Given the description of an element on the screen output the (x, y) to click on. 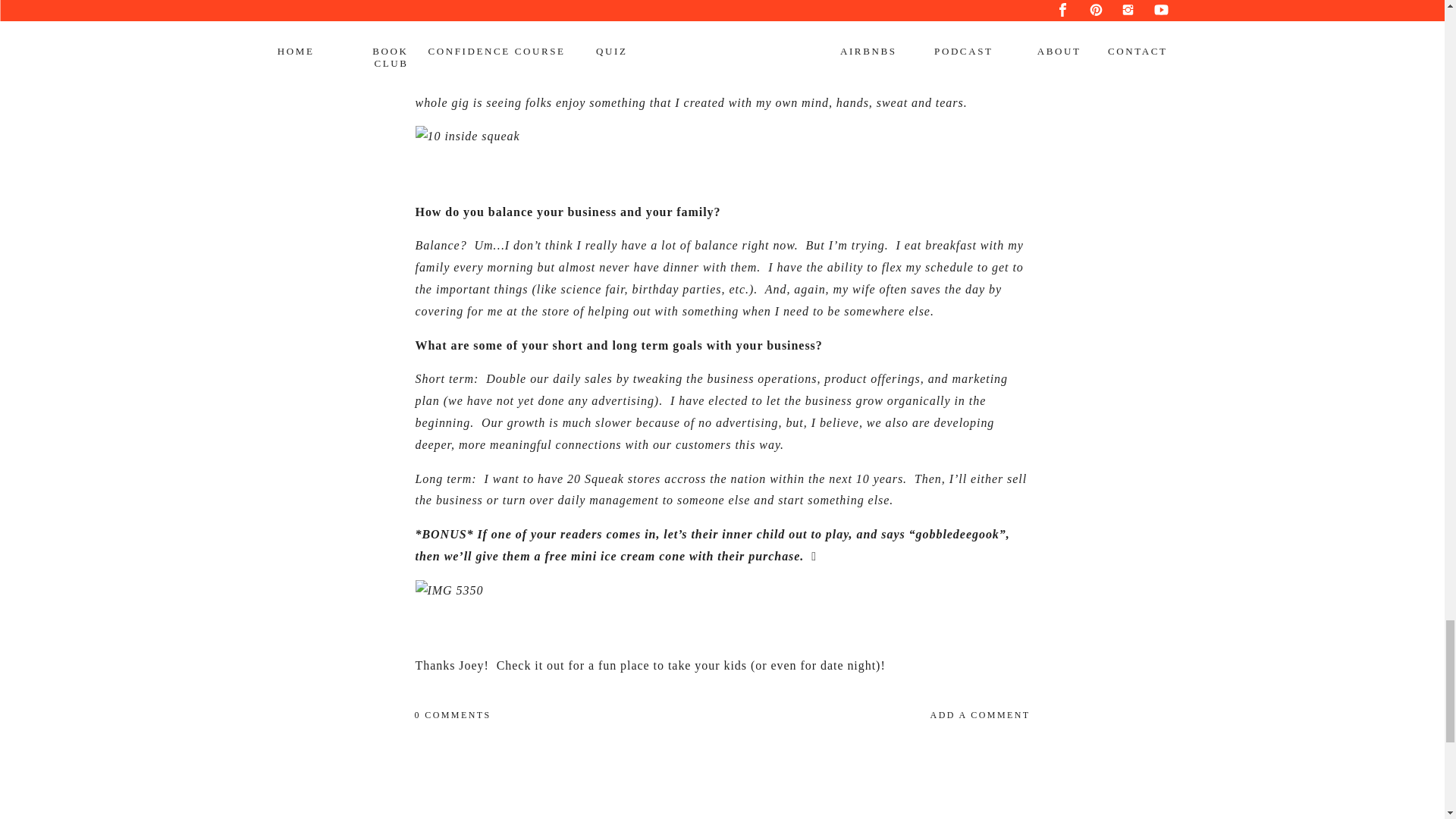
ADD A COMMENT (883, 715)
IMG 5350 (722, 590)
10 inside squeak (722, 137)
0 COMMENTS (451, 715)
